Given the description of an element on the screen output the (x, y) to click on. 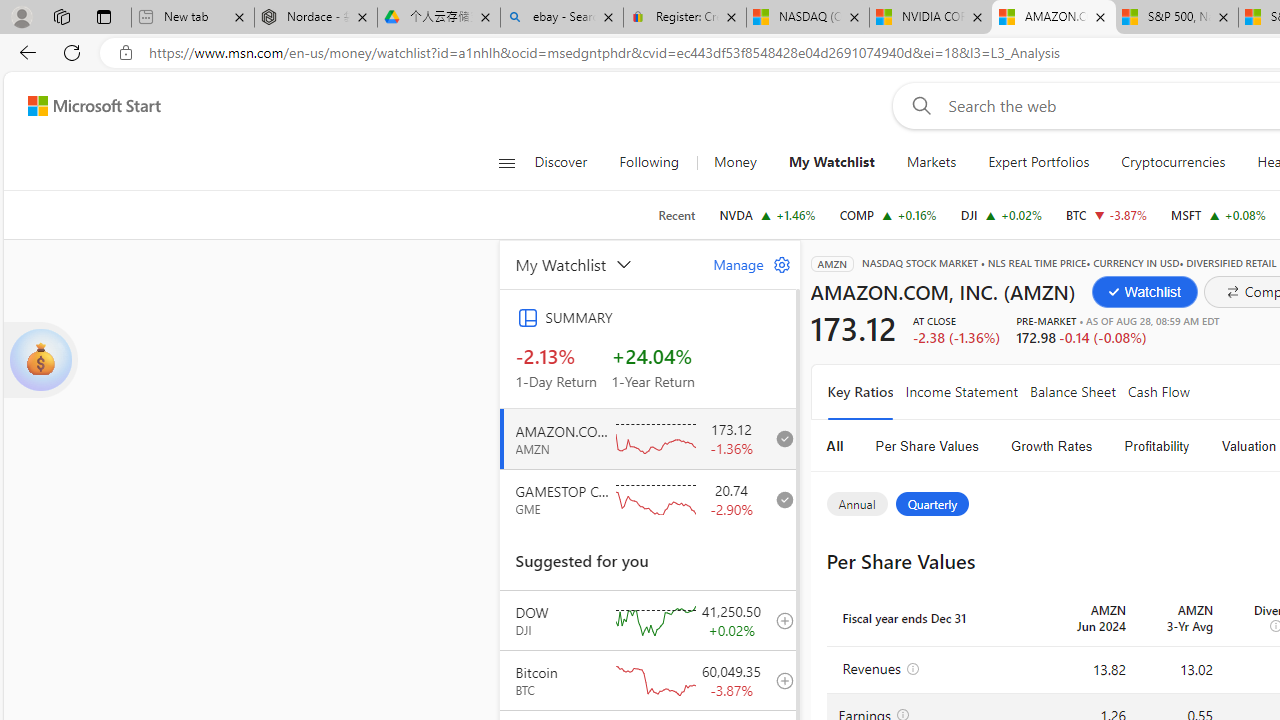
remove from your watchlist (779, 498)
Skip to footer (82, 105)
Cryptocurrencies (1172, 162)
Following (648, 162)
All (834, 445)
DJI DOW increase 41,250.50 +9.98 +0.02% (1000, 214)
My Watchlist (601, 264)
Skip to content (86, 105)
Markets (930, 162)
Markets (931, 162)
